Given the description of an element on the screen output the (x, y) to click on. 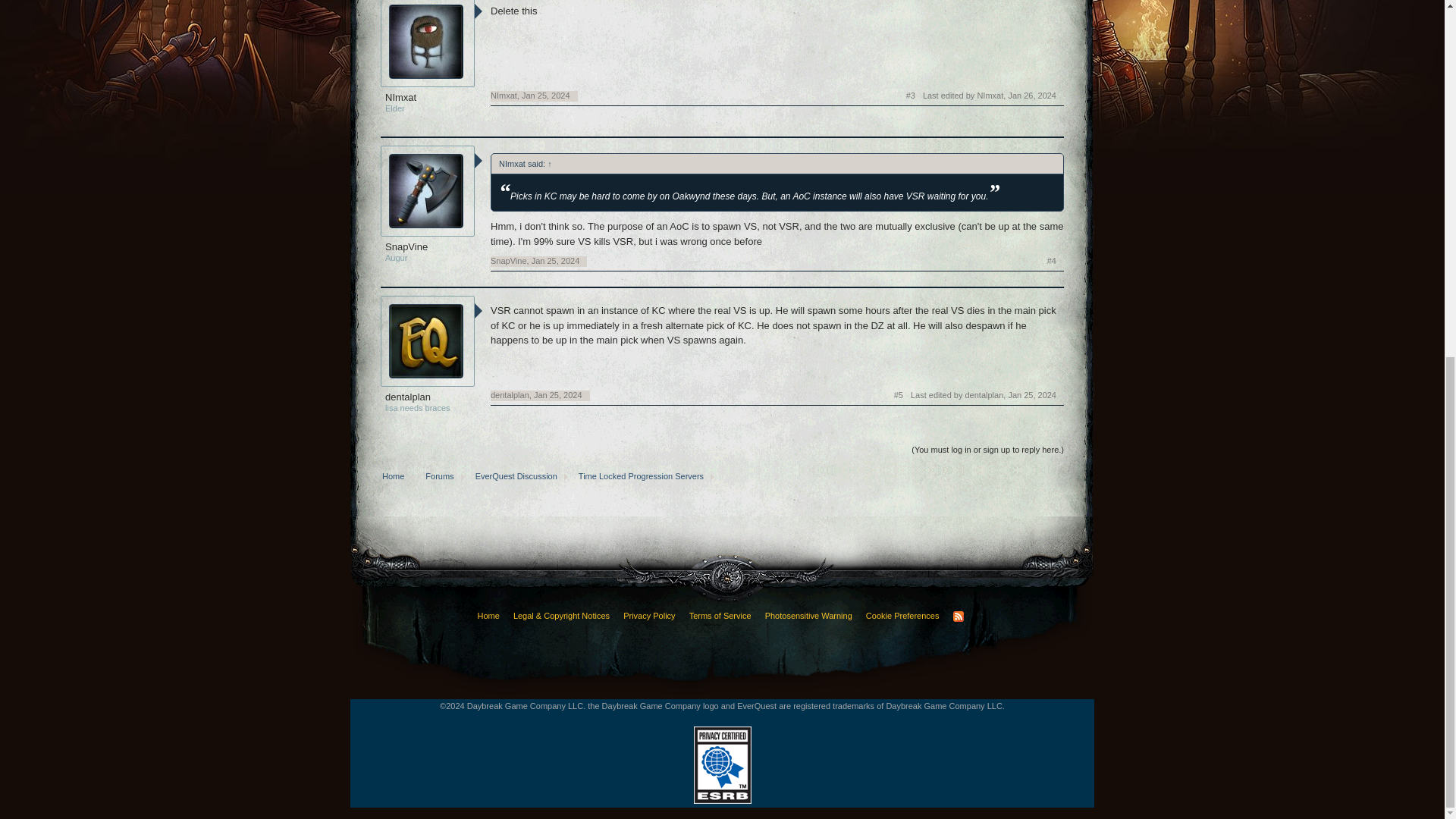
Permalink (545, 94)
Last edited by NImxat, Jan 26, 2024 (990, 95)
dentalplan (427, 397)
Jan 25, 2024 (555, 260)
Last edited by dentalplan, Jan 25, 2024 (984, 395)
Jan 25, 2024 (545, 94)
Permalink (910, 95)
Permalink (558, 394)
NImxat (427, 97)
Permalink (555, 260)
SnapVine (427, 246)
SnapVine (508, 260)
Jan 25, 2024 (558, 394)
Permalink (1051, 261)
Jan 26, 2024 at 2:48 AM (1032, 94)
